Given the description of an element on the screen output the (x, y) to click on. 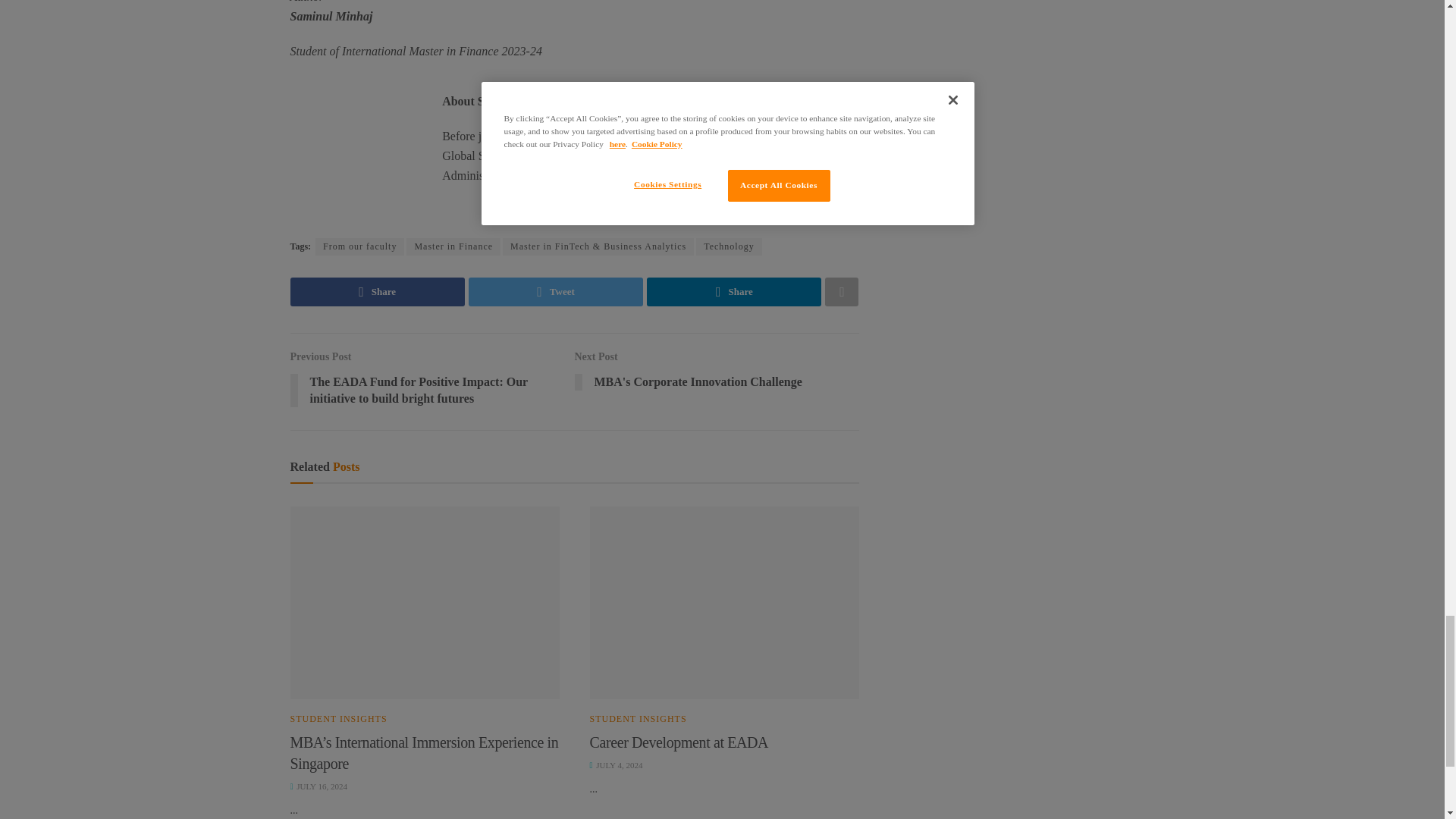
Technology (728, 246)
Master in Finance (453, 246)
From our faculty (359, 246)
